Given the description of an element on the screen output the (x, y) to click on. 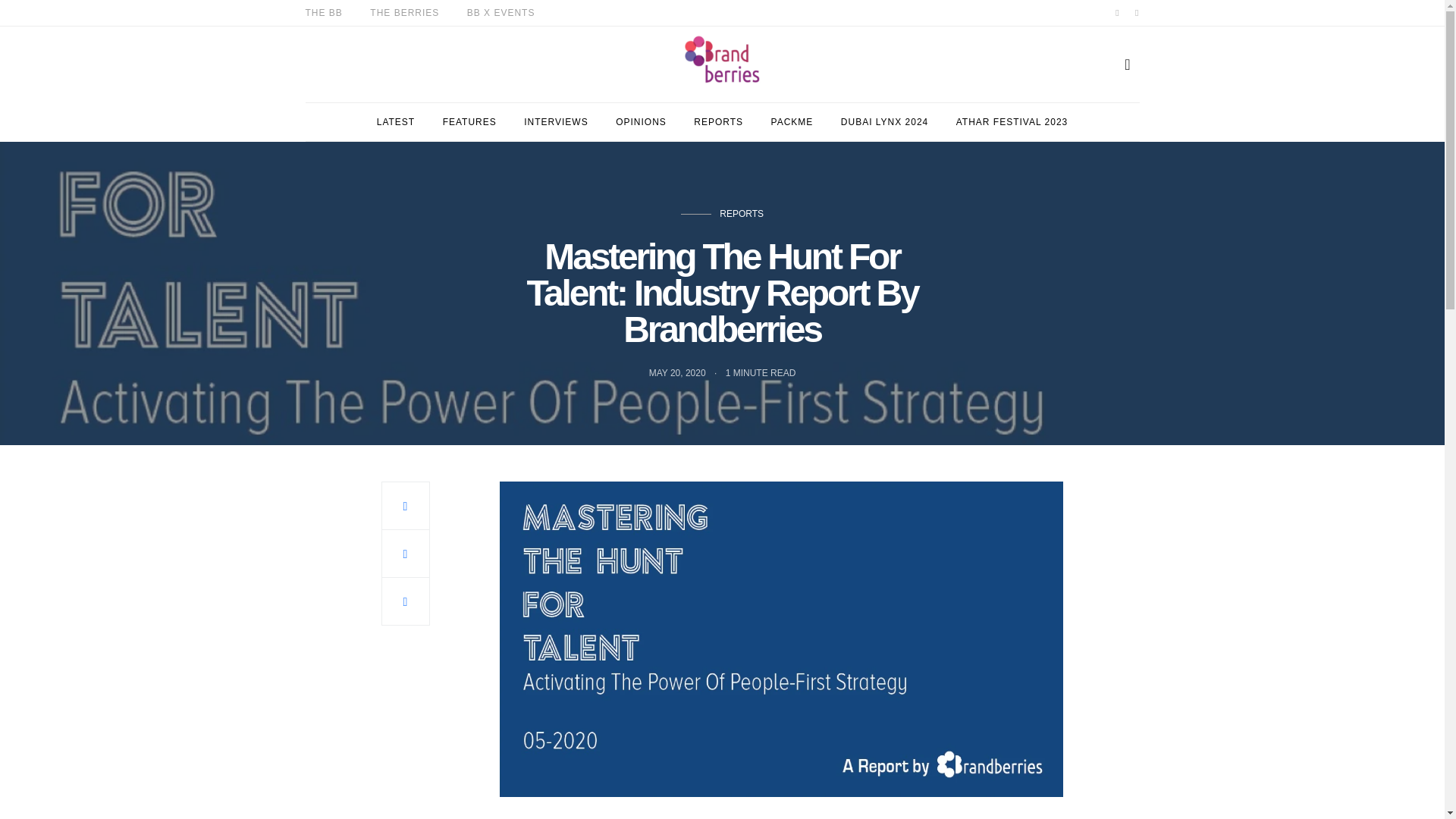
LATEST (395, 121)
INTERVIEWS (556, 121)
REPORTS (718, 121)
REPORTS (740, 213)
THE BB (323, 12)
DUBAI LYNX 2024 (884, 121)
FEATURES (469, 121)
BB X EVENTS (501, 12)
ATHAR FESTIVAL 2023 (1012, 121)
OPINIONS (640, 121)
